Given the description of an element on the screen output the (x, y) to click on. 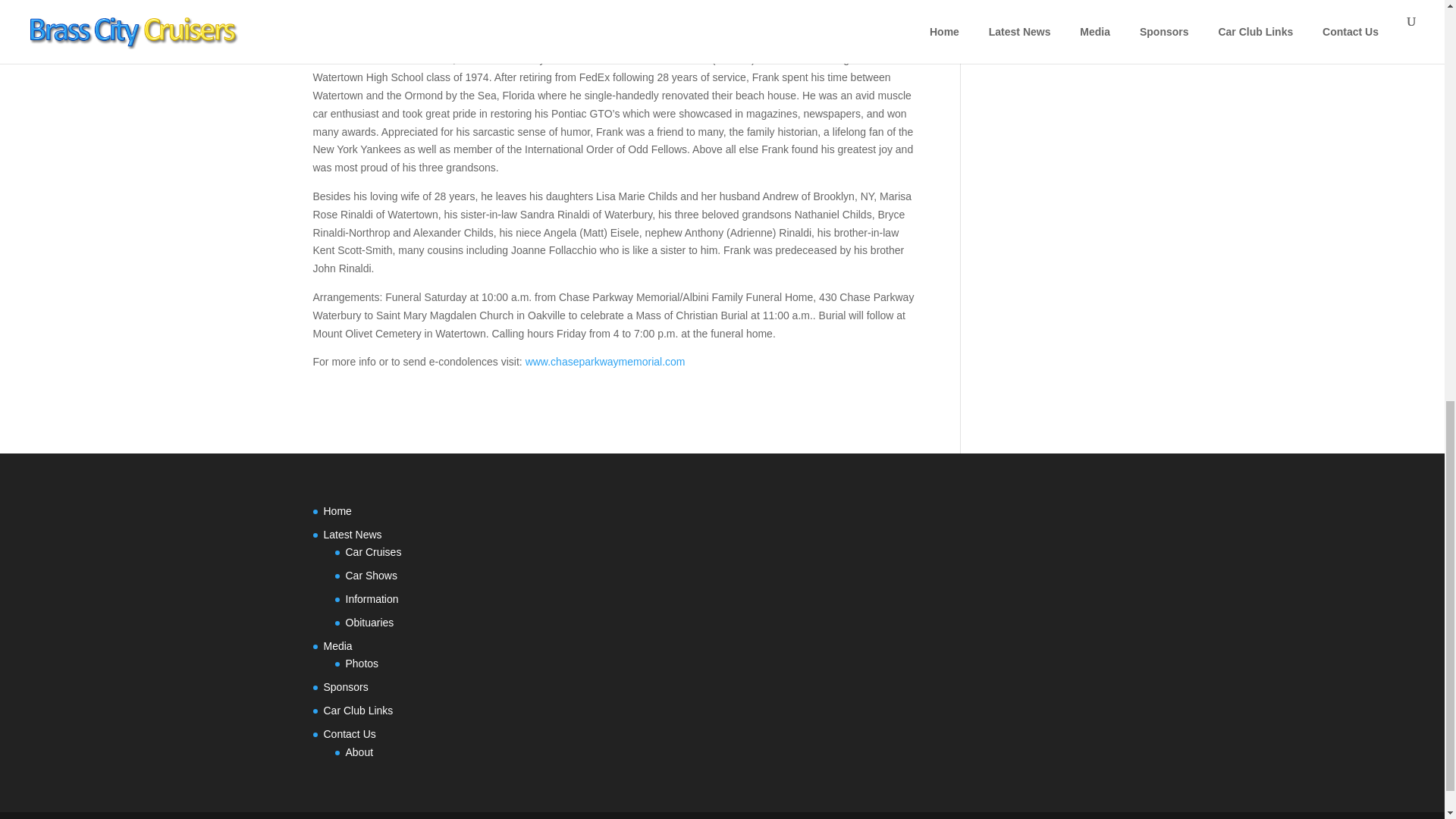
Contact Us (349, 734)
Car Club Links (358, 710)
Car Shows (371, 575)
About (360, 752)
Media (337, 645)
Information (372, 598)
Obituaries (370, 622)
Photos (362, 663)
Home (336, 510)
Latest News (352, 534)
Car Cruises (373, 551)
Sponsors (345, 686)
www.chaseparkwaymemorial.com (605, 361)
